Given the description of an element on the screen output the (x, y) to click on. 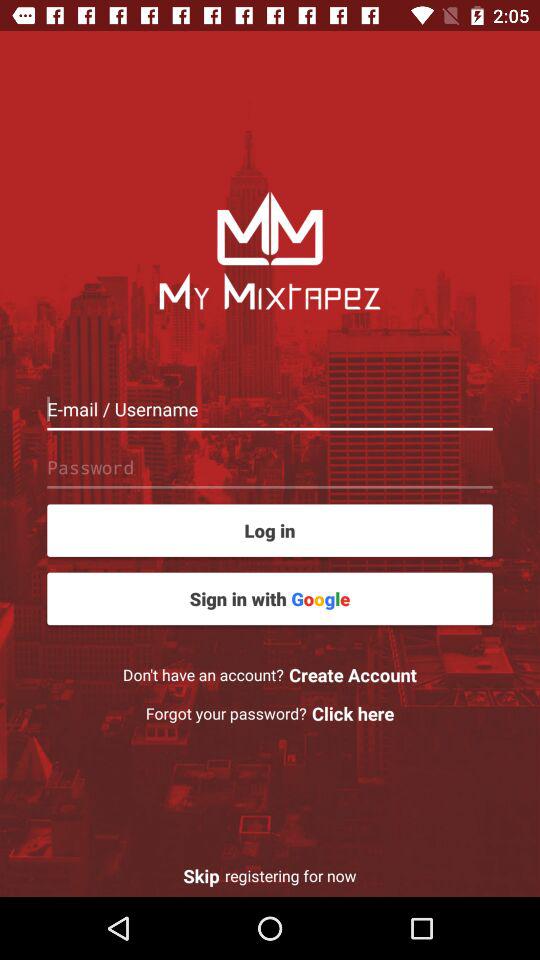
provided field to enter password (270, 467)
